Given the description of an element on the screen output the (x, y) to click on. 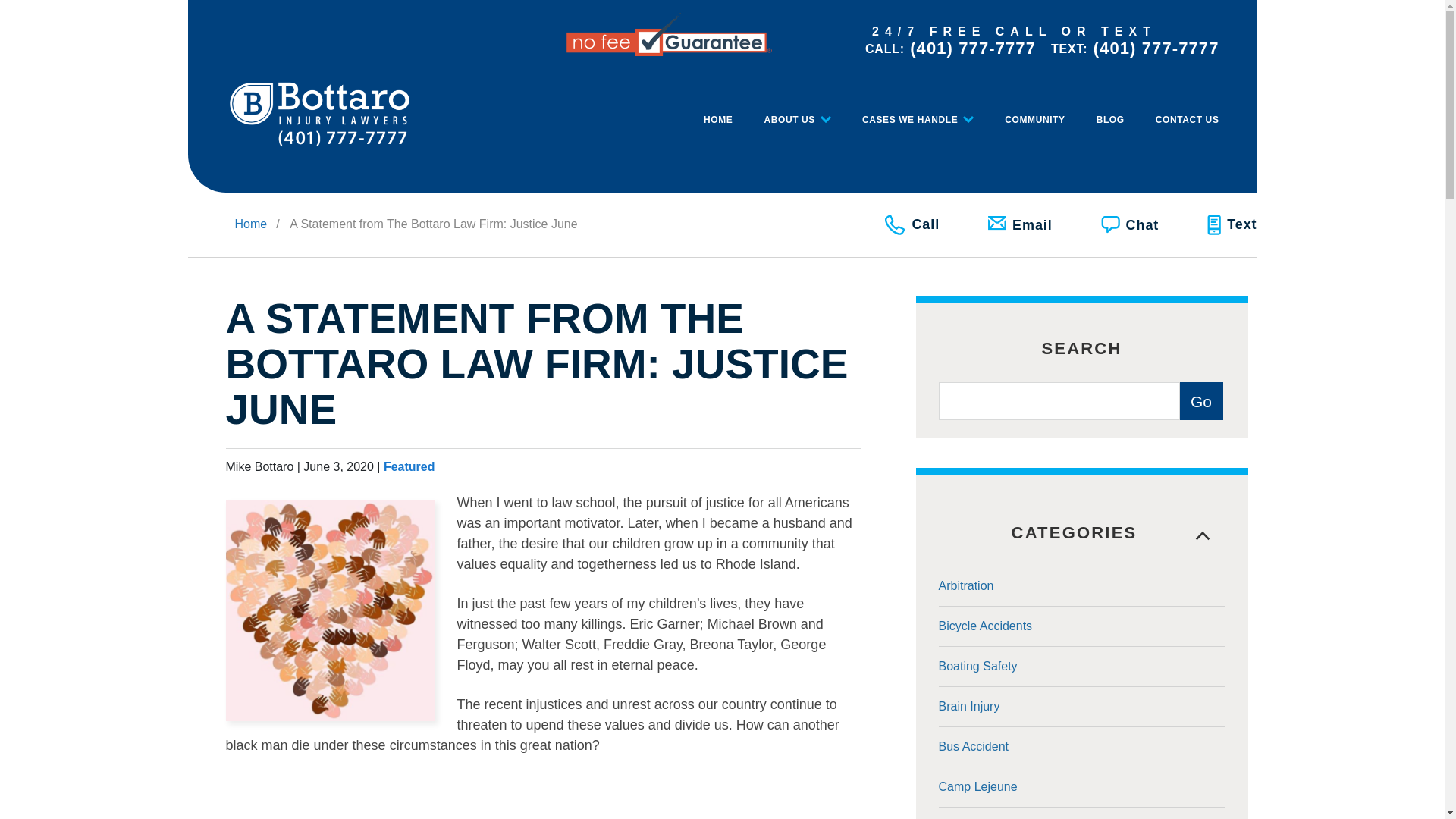
About Us (796, 112)
Community (1034, 112)
Cases We Handle (917, 112)
ABOUT US (796, 112)
CASES WE HANDLE (917, 112)
Go (1201, 401)
